Given the description of an element on the screen output the (x, y) to click on. 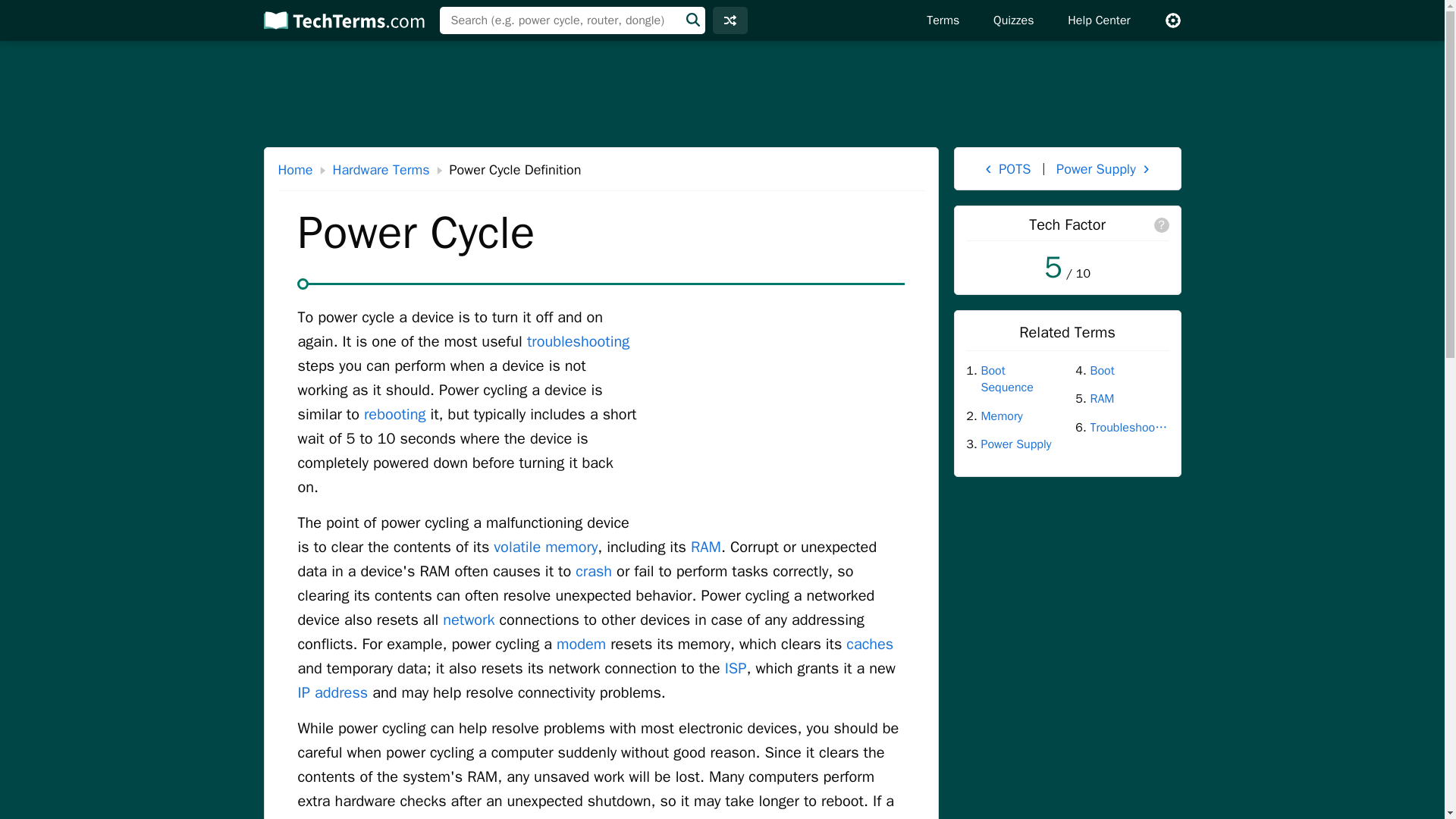
network (468, 619)
TechTerms.com (341, 20)
Random (730, 20)
caches (869, 643)
ISP (735, 668)
crash (593, 570)
Home (295, 169)
Hardware Terms (381, 169)
Help Center (1098, 20)
RAM (705, 546)
What is the Tech Factor? (1161, 224)
Terms (942, 20)
? (1161, 224)
file (642, 817)
